Given the description of an element on the screen output the (x, y) to click on. 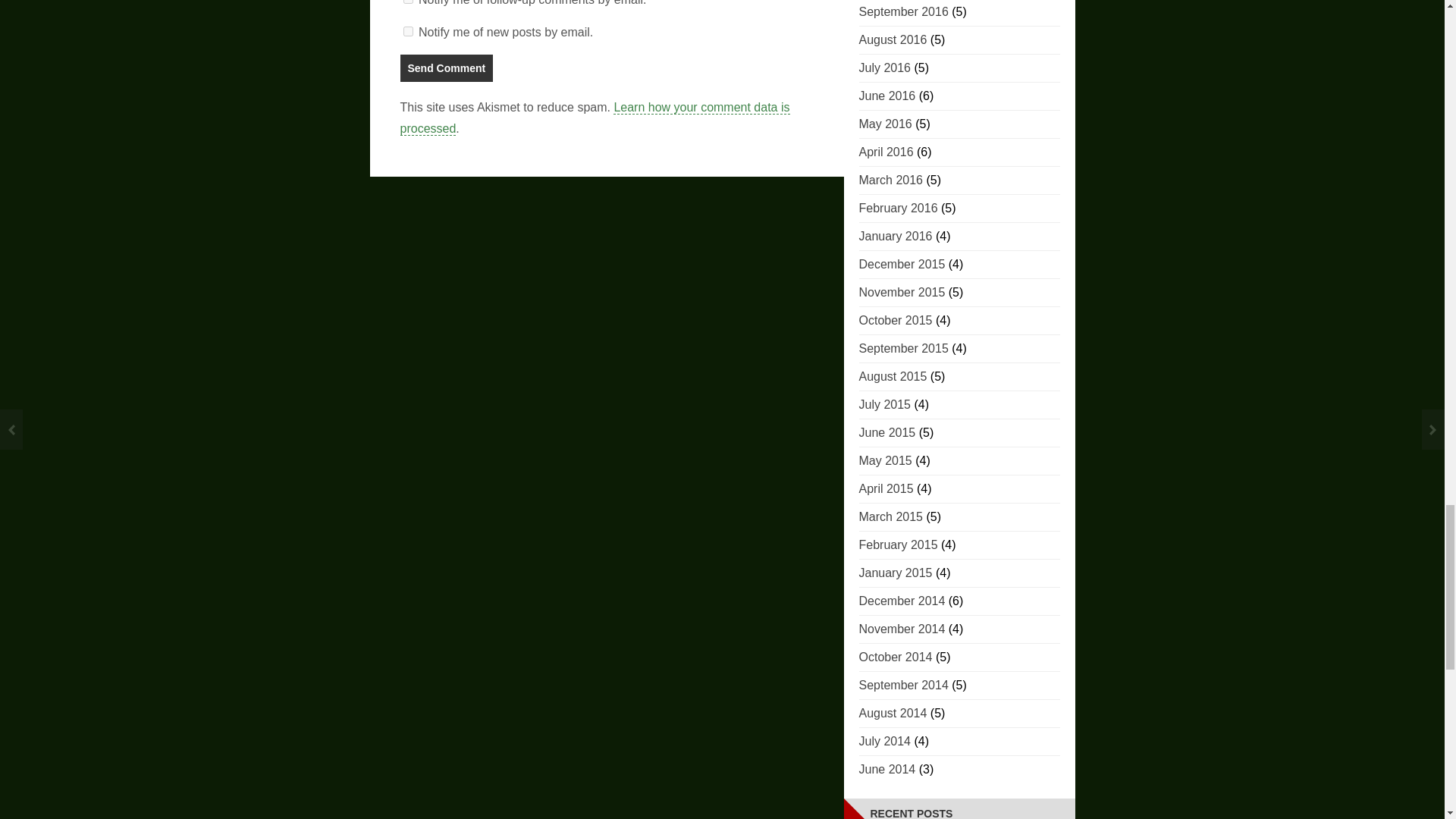
subscribe (408, 2)
Learn how your comment data is processed (595, 117)
subscribe (408, 31)
Send Comment (446, 67)
Send Comment (446, 67)
